Given the description of an element on the screen output the (x, y) to click on. 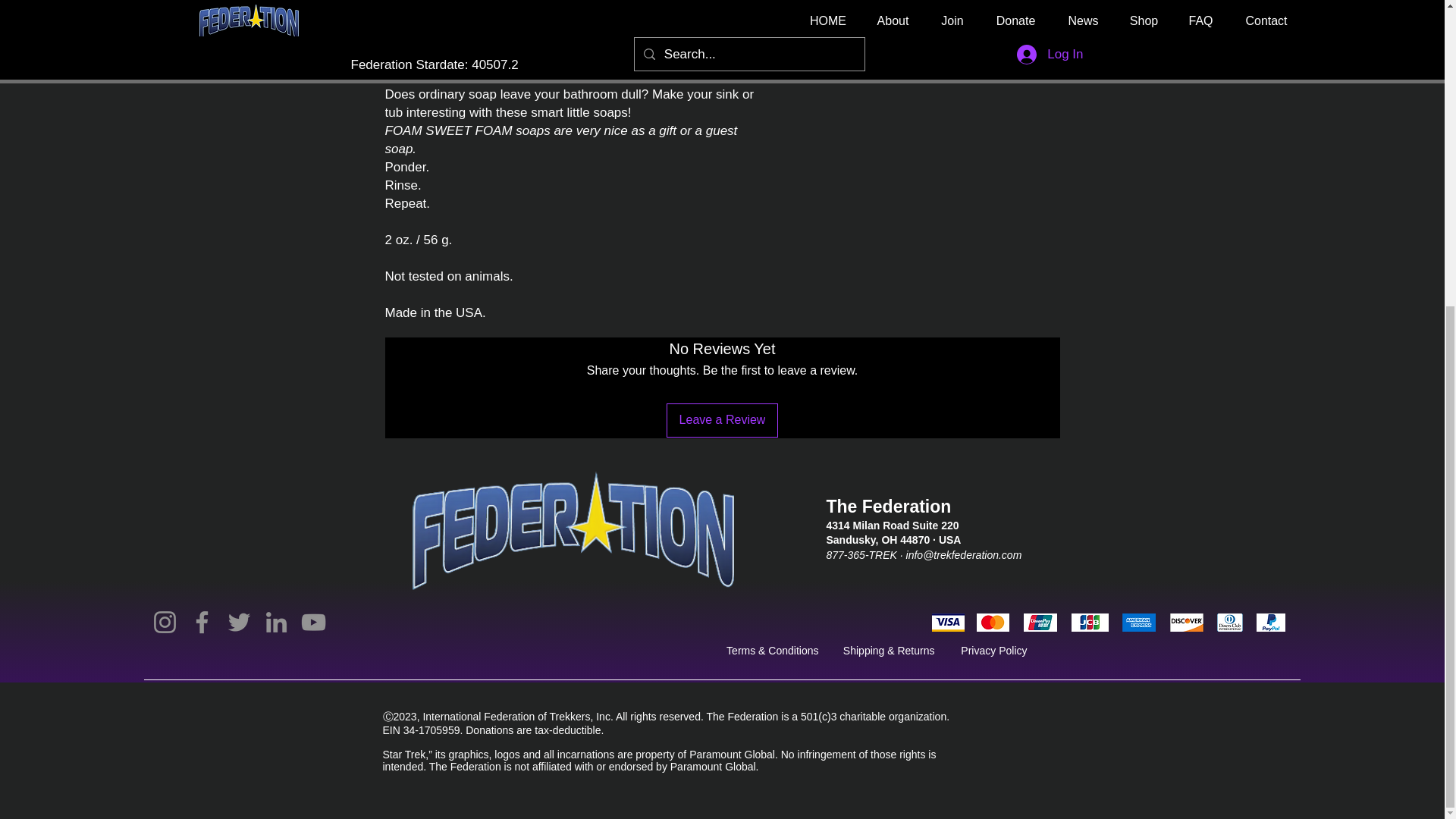
Privacy Policy (993, 650)
Leave a Review (722, 419)
